Given the description of an element on the screen output the (x, y) to click on. 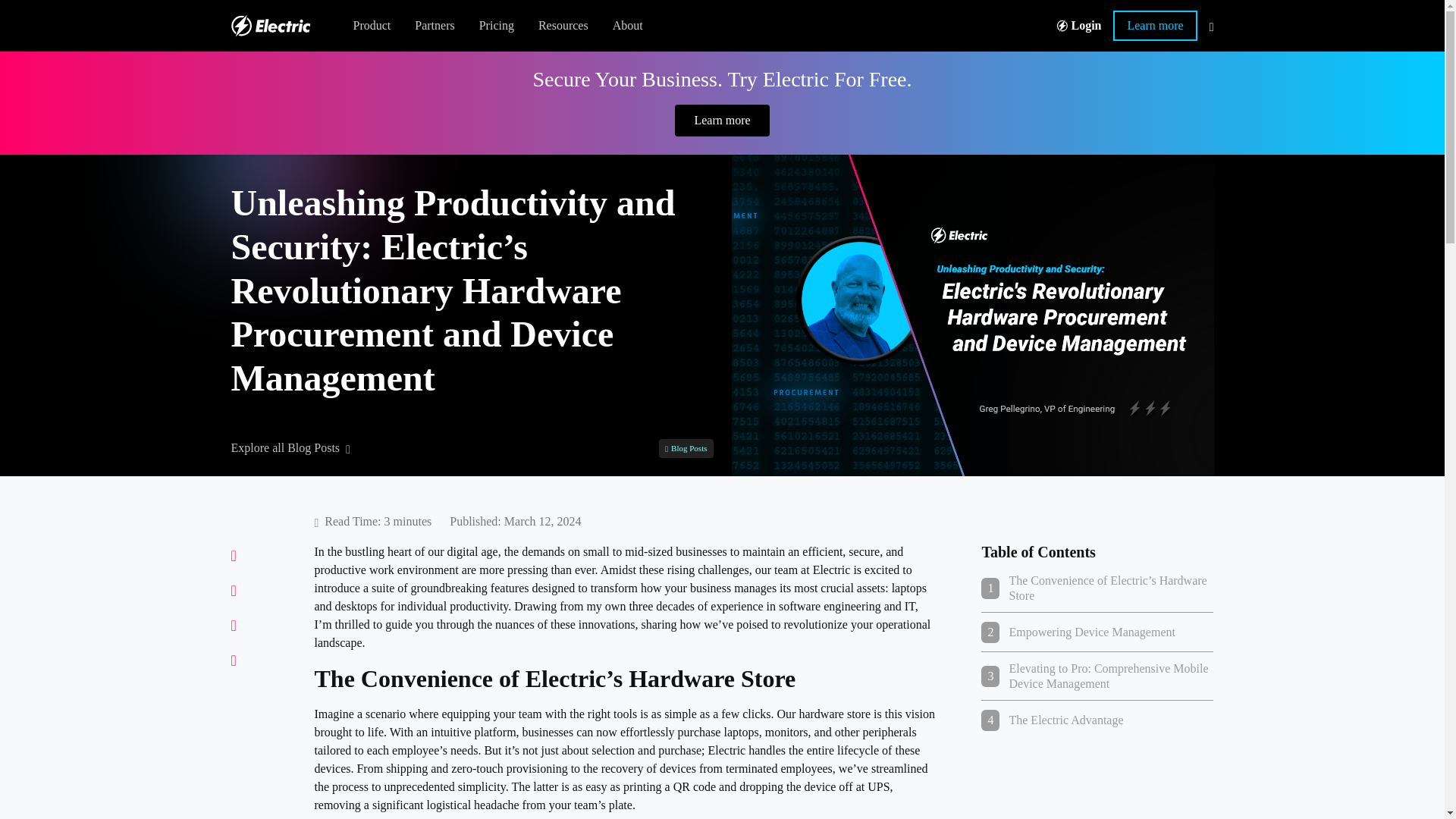
Pricing (496, 25)
Product (372, 25)
Learn more (721, 120)
Partners (434, 25)
Learn more (1154, 25)
Login (1079, 25)
Explore all Blog Posts (289, 447)
Resources (498, 25)
